Given the description of an element on the screen output the (x, y) to click on. 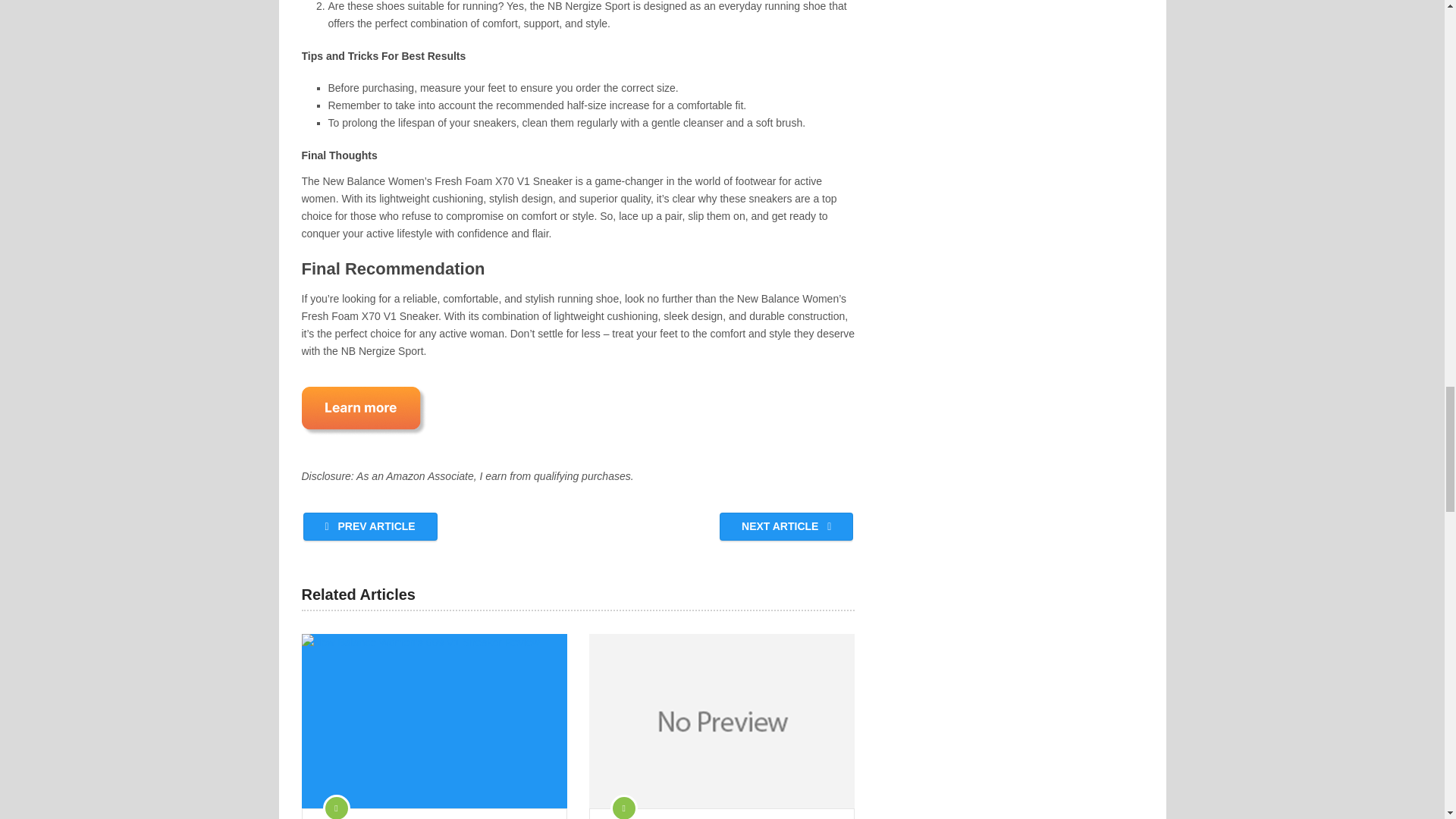
PREV ARTICLE (370, 526)
NEXT ARTICLE (786, 526)
